Given the description of an element on the screen output the (x, y) to click on. 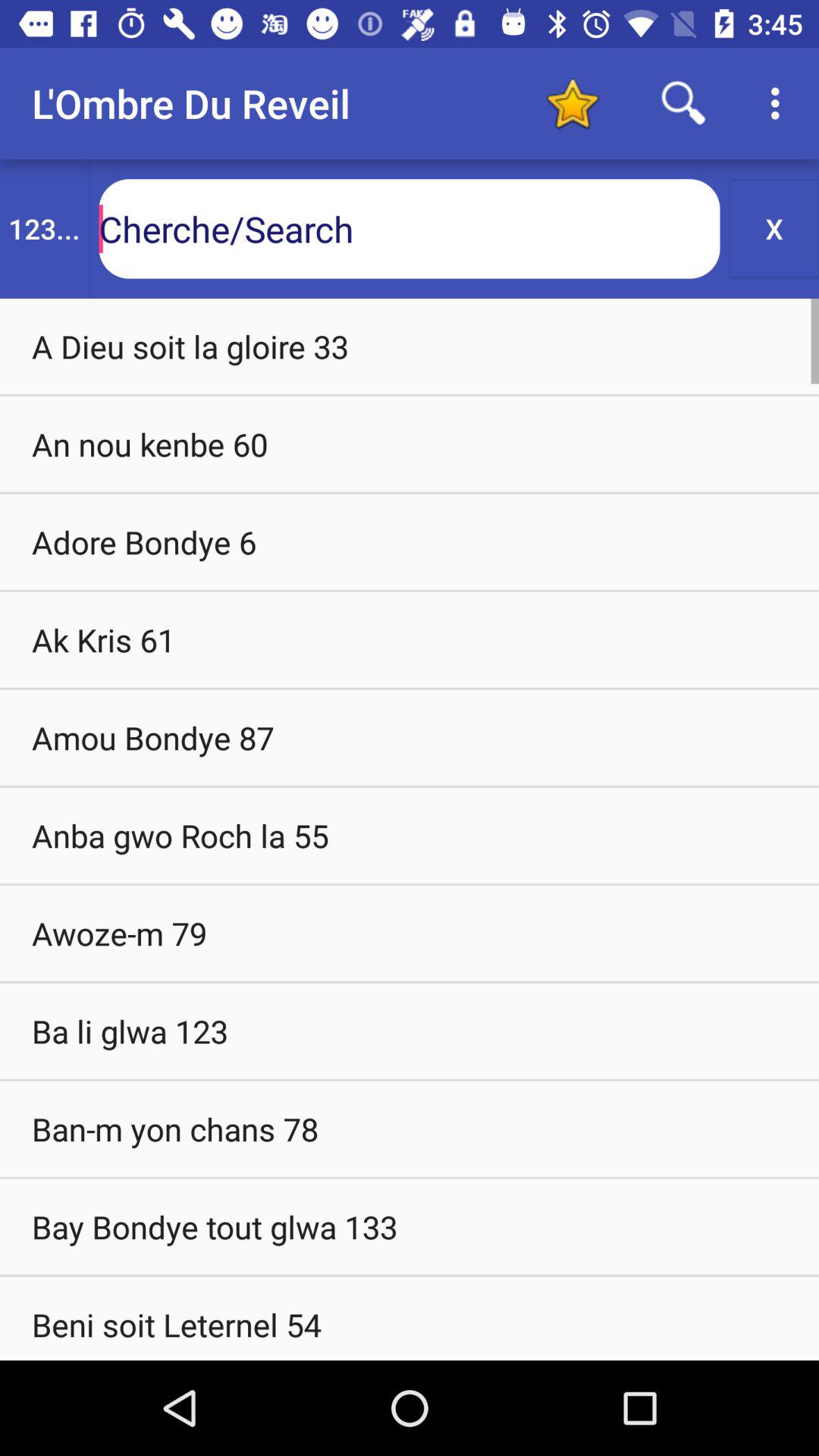
favorites (571, 103)
